Given the description of an element on the screen output the (x, y) to click on. 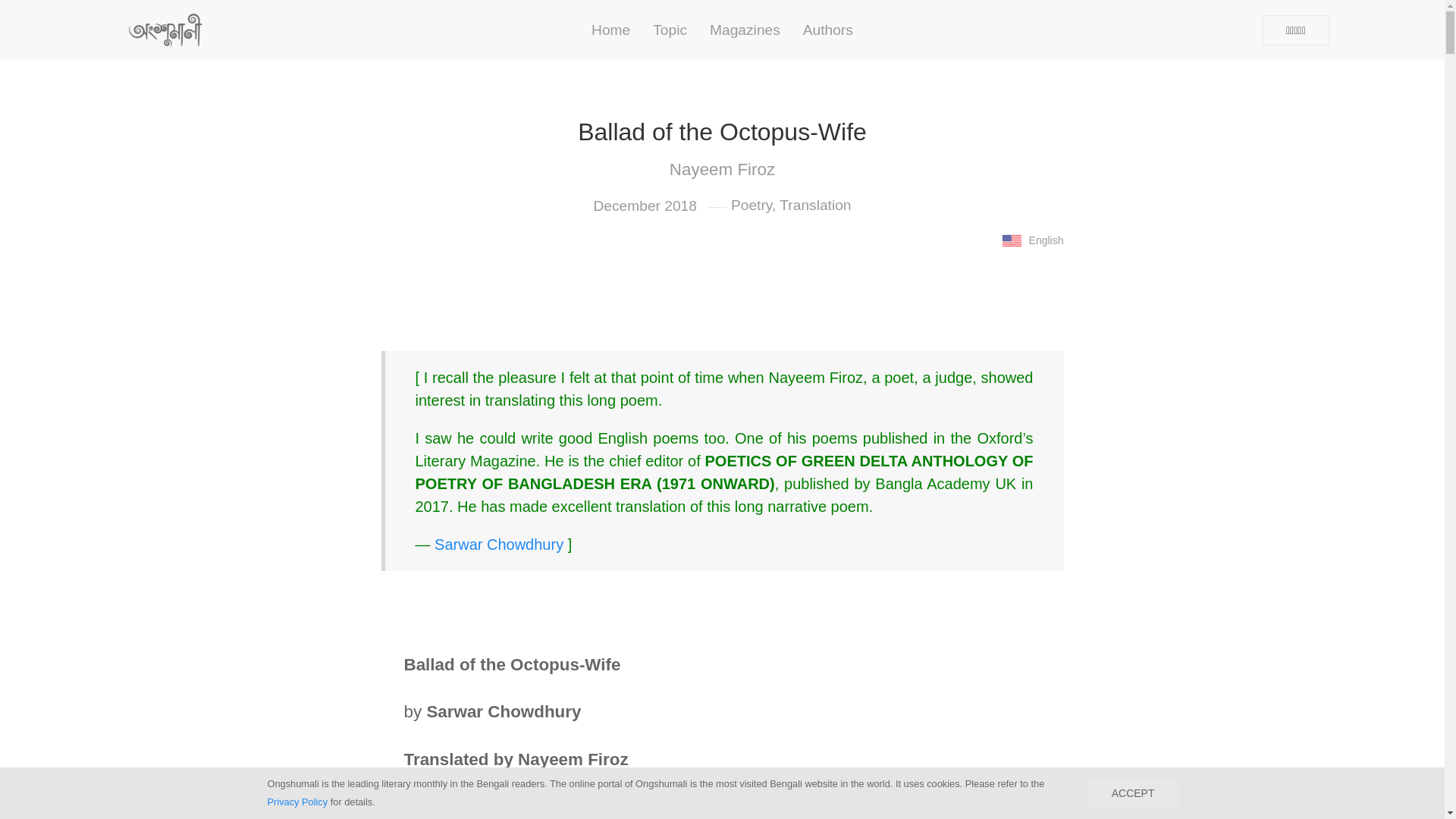
Sarwar Chowdhury (498, 544)
Authors (828, 30)
Home (610, 30)
Poetry (750, 204)
Topic (670, 30)
Magazines (745, 30)
Nayeem Firoz (721, 169)
Translation (814, 204)
